Given the description of an element on the screen output the (x, y) to click on. 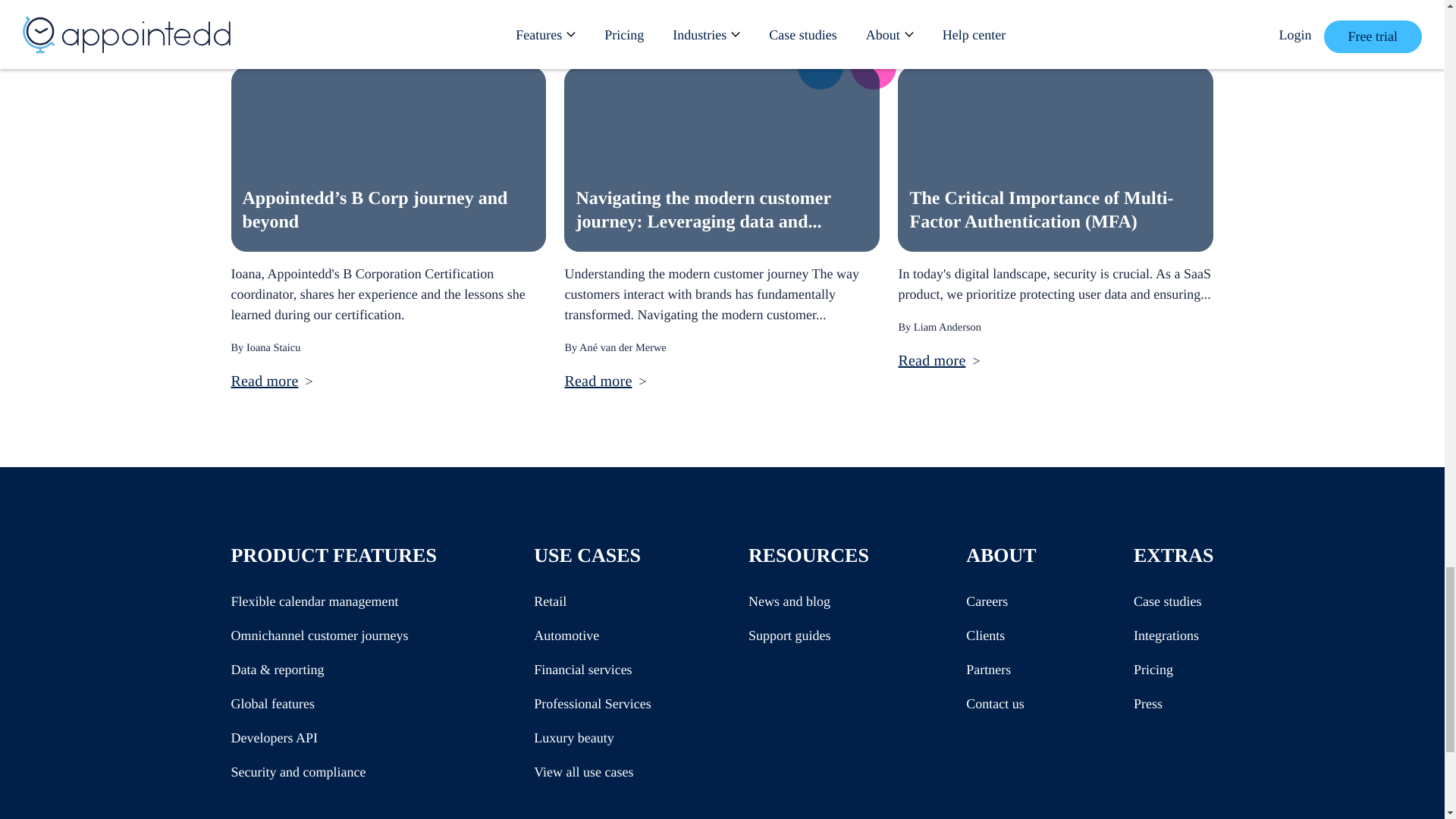
Flexible calendar management (313, 601)
Read more (931, 360)
Read more (597, 381)
Omnichannel customer journeys (318, 635)
Read more (264, 381)
